Given the description of an element on the screen output the (x, y) to click on. 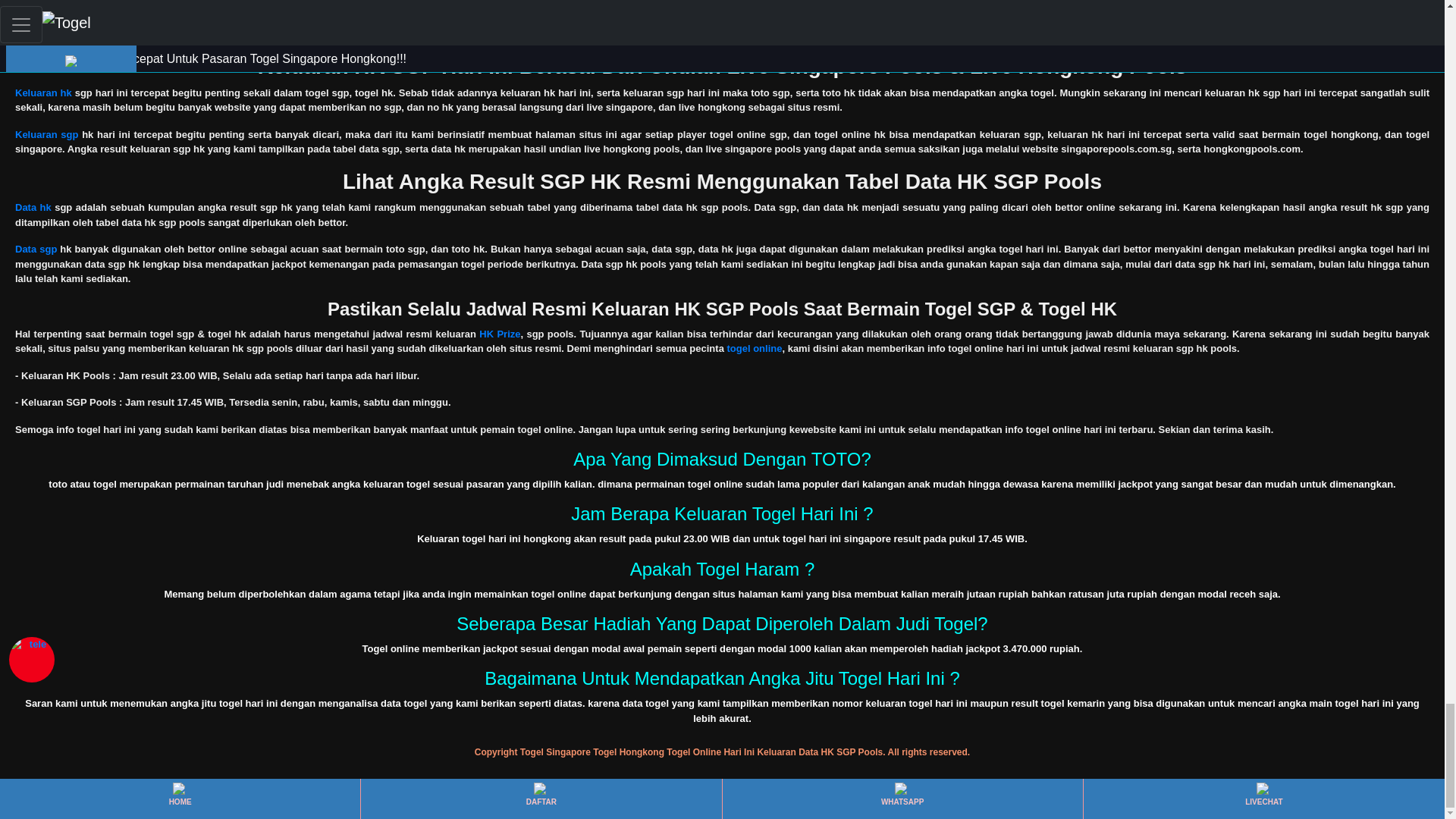
Data hk (32, 206)
Togel hari ini (45, 19)
Keluaran hk (42, 92)
togel online (753, 348)
HK Prize (499, 333)
Keluaran sgp (46, 134)
Data sgp (35, 248)
